Given the description of an element on the screen output the (x, y) to click on. 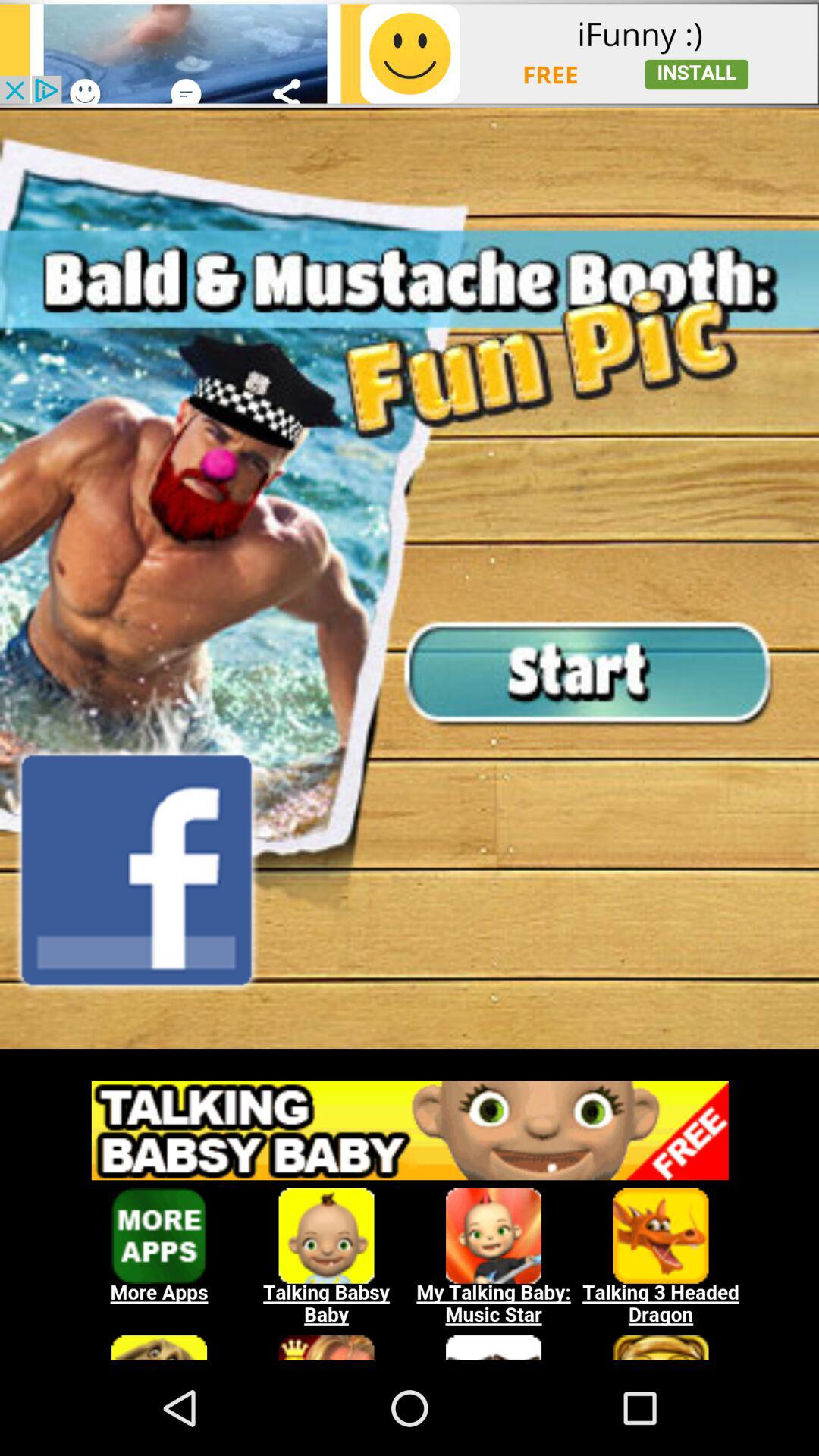
download free game (409, 1056)
